Given the description of an element on the screen output the (x, y) to click on. 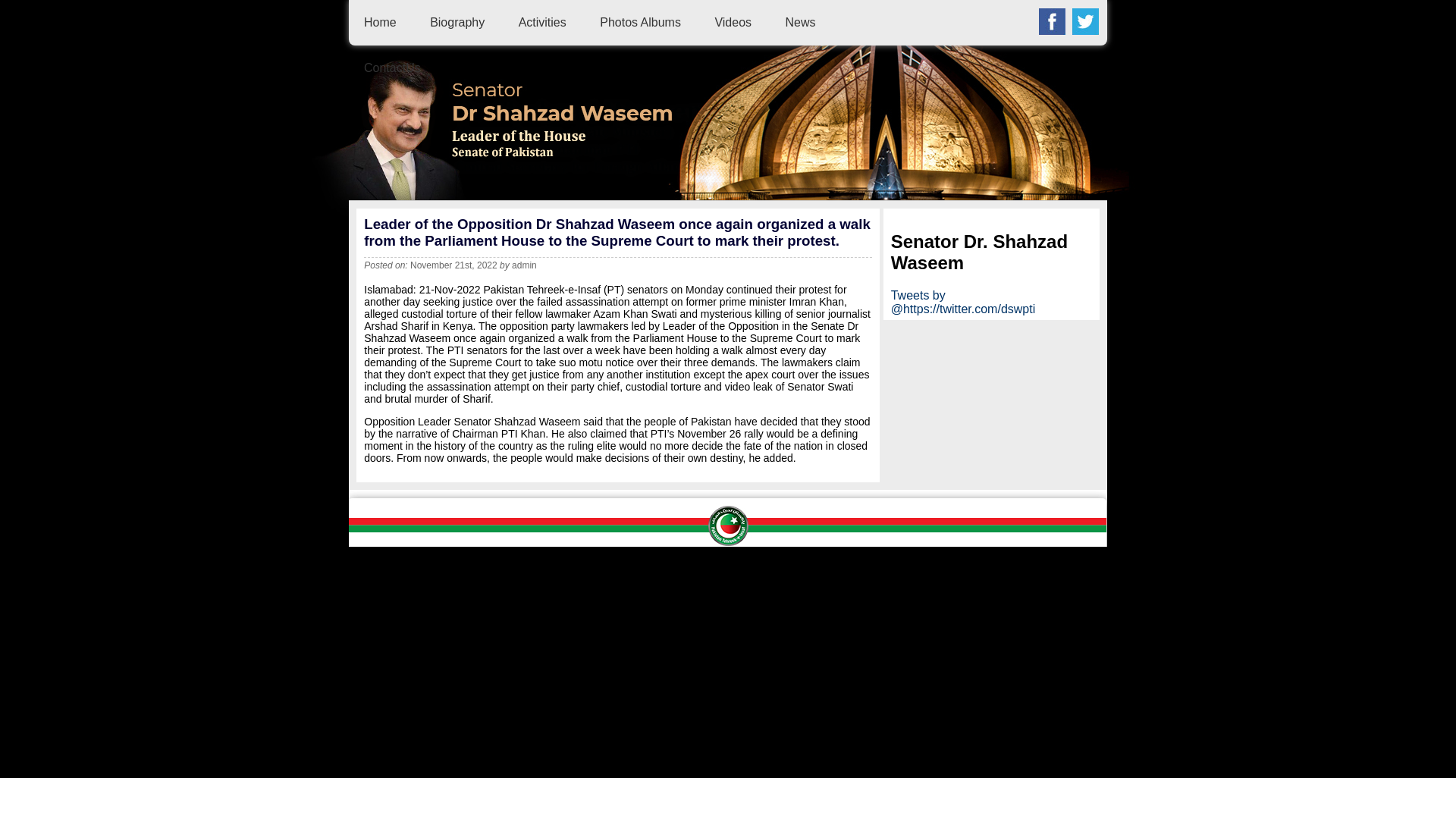
News (800, 21)
ContactUs (392, 67)
Activities (542, 21)
Photos Albums (640, 21)
Home (380, 21)
Videos (732, 21)
Biography (456, 21)
